Given the description of an element on the screen output the (x, y) to click on. 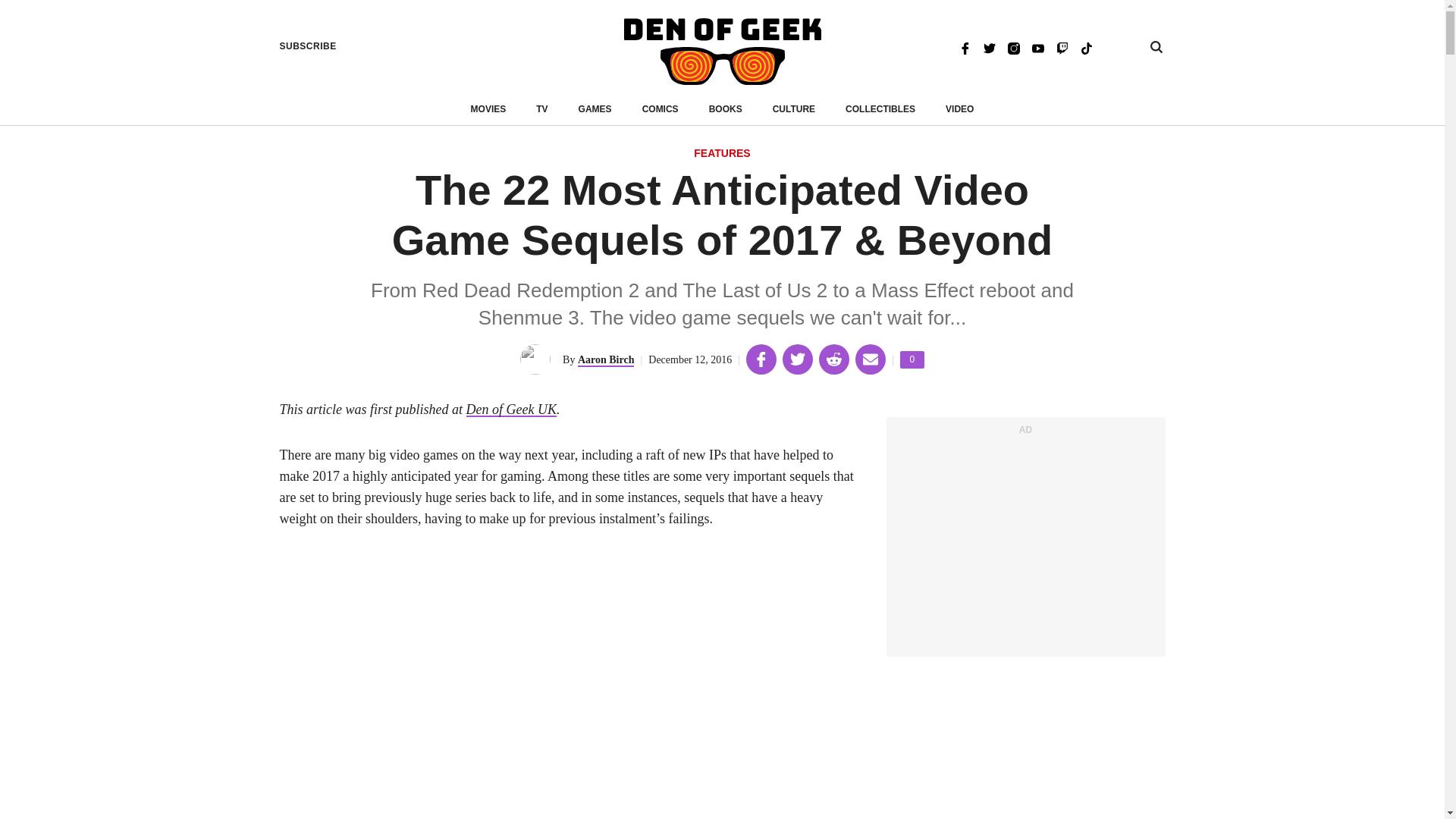
SUBSCRIBE (307, 46)
TikTok (1085, 46)
Aaron Birch (606, 359)
VIDEO (959, 109)
Den of Geek (722, 52)
GAMES (594, 109)
CULTURE (794, 109)
Den of Geek UK (510, 409)
FEATURES (721, 153)
Instagram (911, 359)
MOVIES (1013, 46)
BOOKS (488, 109)
COMICS (725, 109)
Twitch (660, 109)
